Given the description of an element on the screen output the (x, y) to click on. 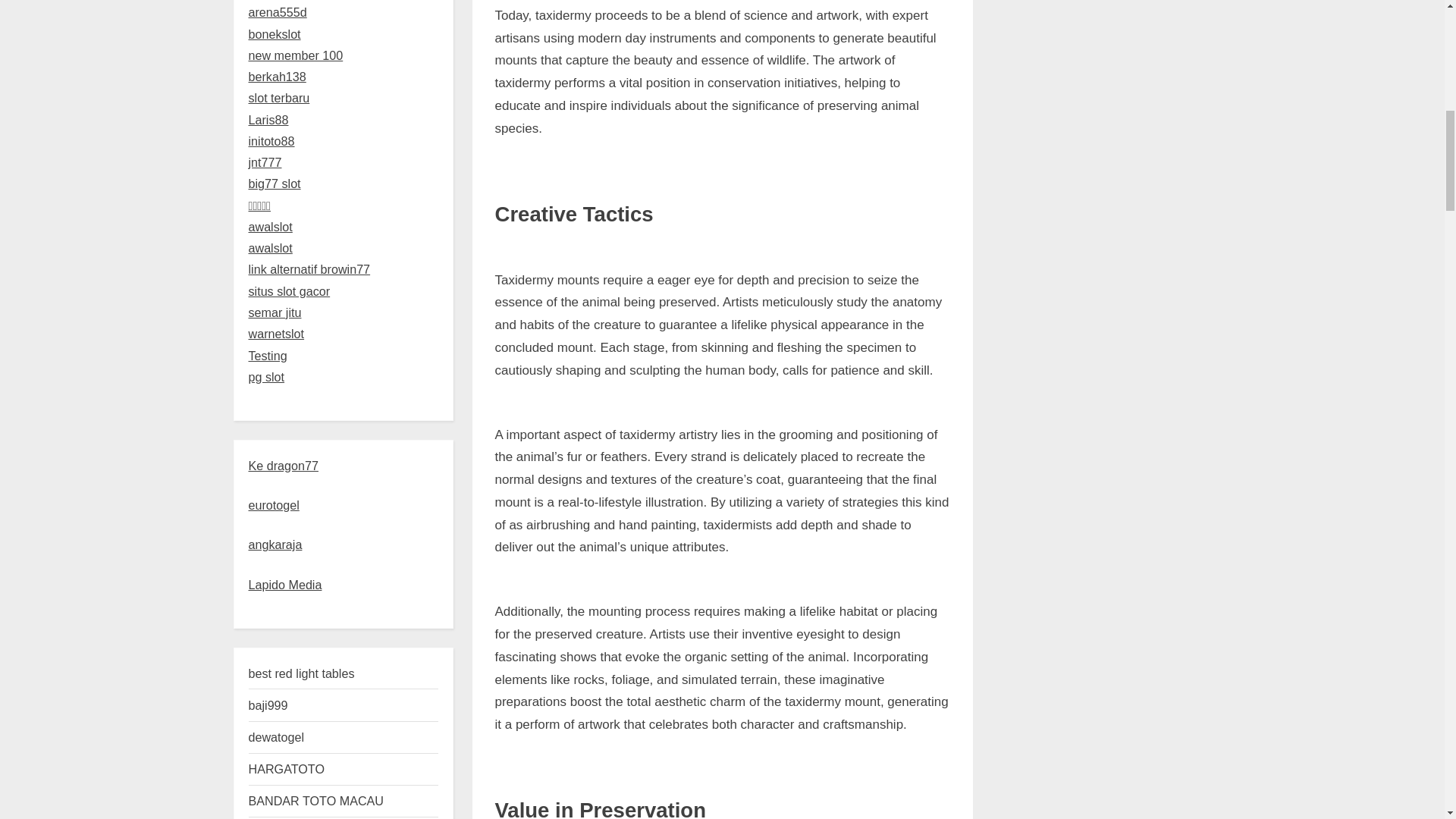
awalslot (270, 247)
Laris88 (268, 119)
bonekslot (274, 33)
link alternatif browin77 (309, 269)
warnetslot (276, 333)
pg slot (266, 377)
Ke dragon77 (283, 464)
initoto88 (271, 141)
situs slot gacor (289, 291)
big77 slot (274, 183)
new member 100 (295, 55)
jnt777 (265, 161)
slot terbaru (279, 97)
berkah138 (276, 76)
Testing (267, 355)
